Given the description of an element on the screen output the (x, y) to click on. 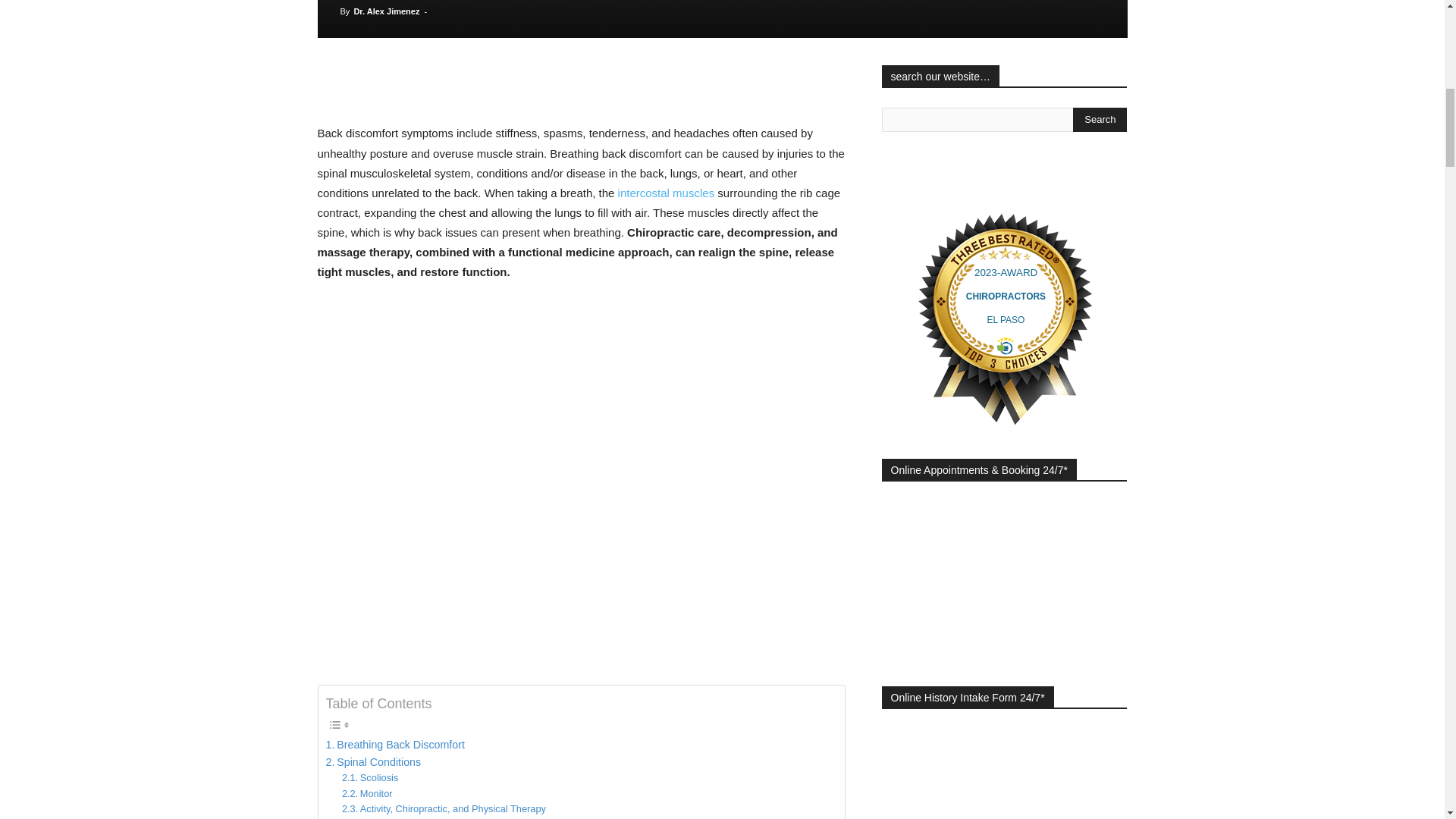
Search (1099, 119)
